Given the description of an element on the screen output the (x, y) to click on. 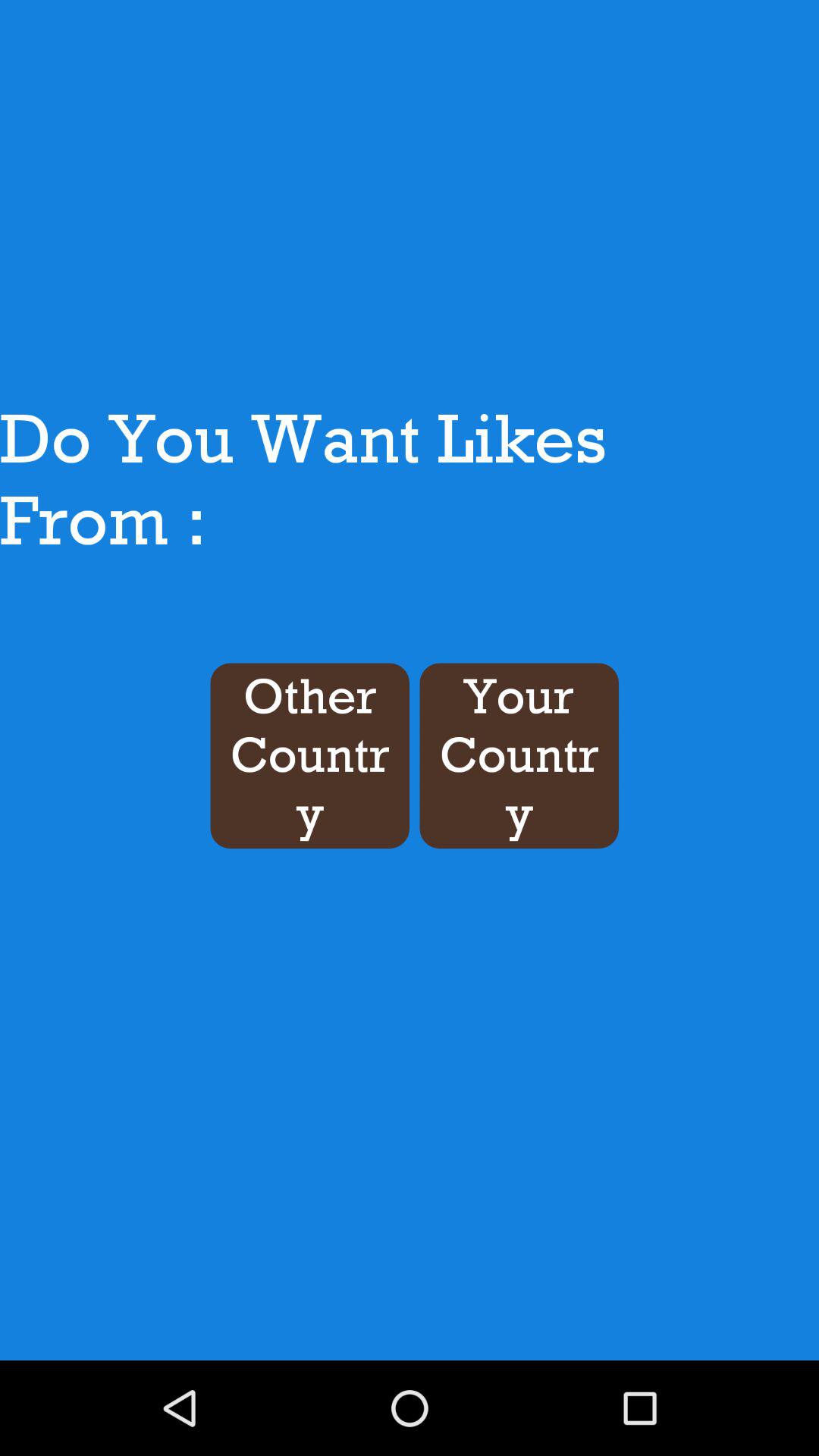
launch the other country (309, 755)
